Given the description of an element on the screen output the (x, y) to click on. 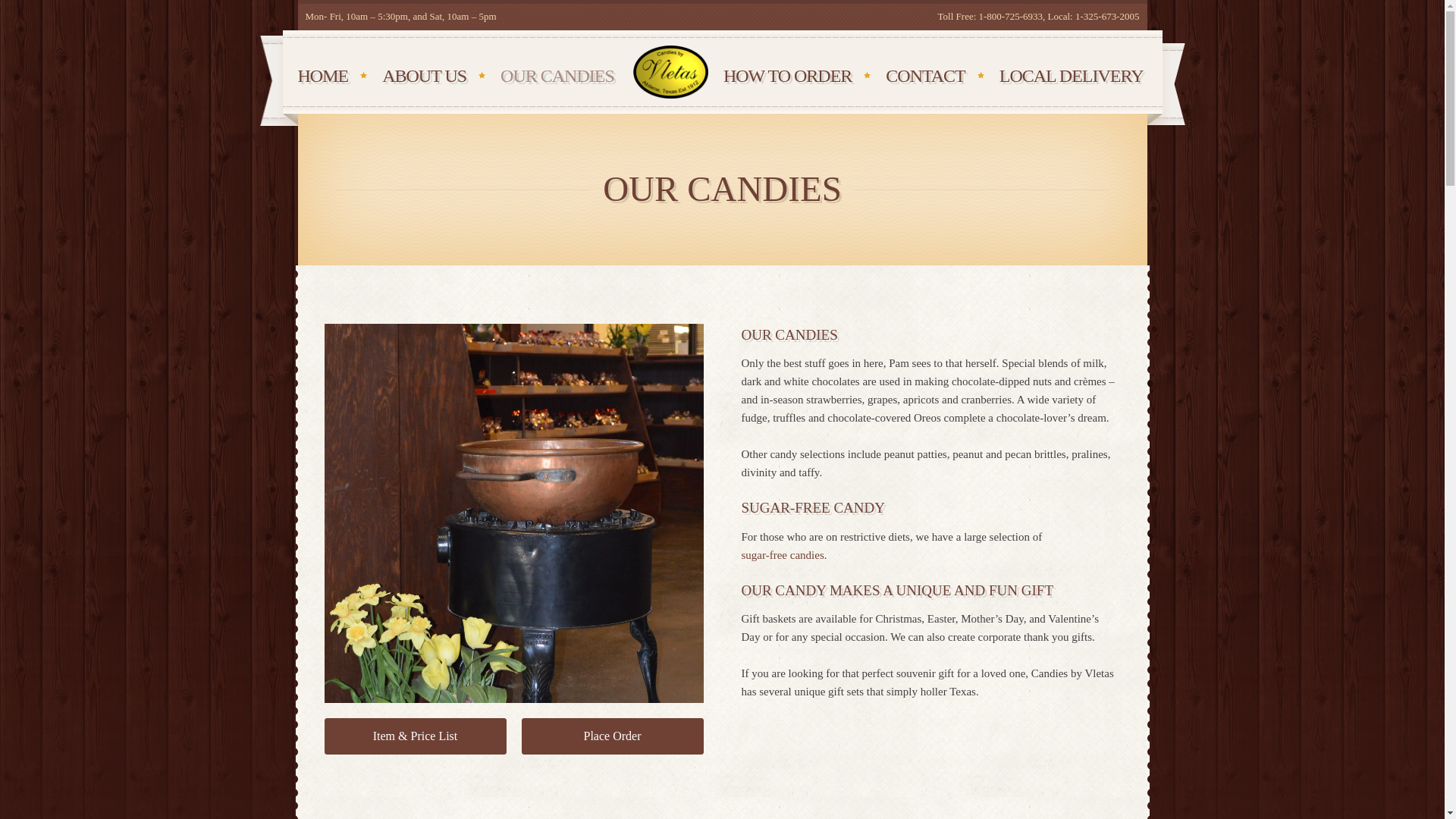
OUR CANDIES (558, 75)
HOME (324, 75)
1-800-725-6933 (1010, 17)
Place Order (612, 736)
LOCAL DELIVERY (1072, 75)
sugar-free candies (782, 555)
1-325-673-2005 (1107, 17)
HOW TO ORDER (788, 75)
ABOUT US (425, 75)
CONTACT (927, 75)
